Given the description of an element on the screen output the (x, y) to click on. 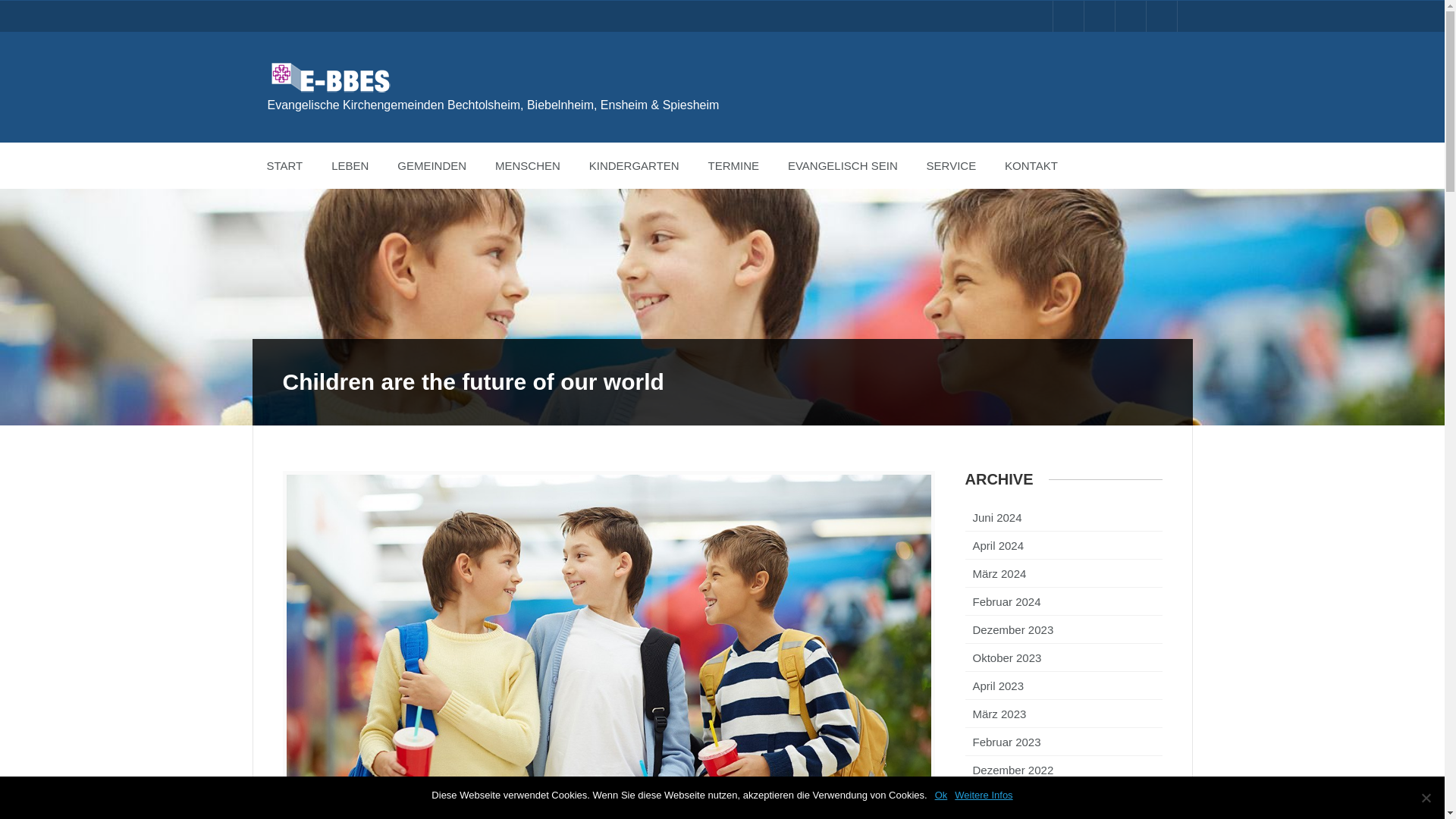
TERMINE (734, 165)
EVANGELISCH SEIN (842, 165)
Facebook (1067, 15)
Search (22, 8)
MENSCHEN (527, 165)
No (1425, 797)
GEMEINDEN (431, 165)
KINDERGARTEN (634, 165)
LEBEN (349, 165)
